Given the description of an element on the screen output the (x, y) to click on. 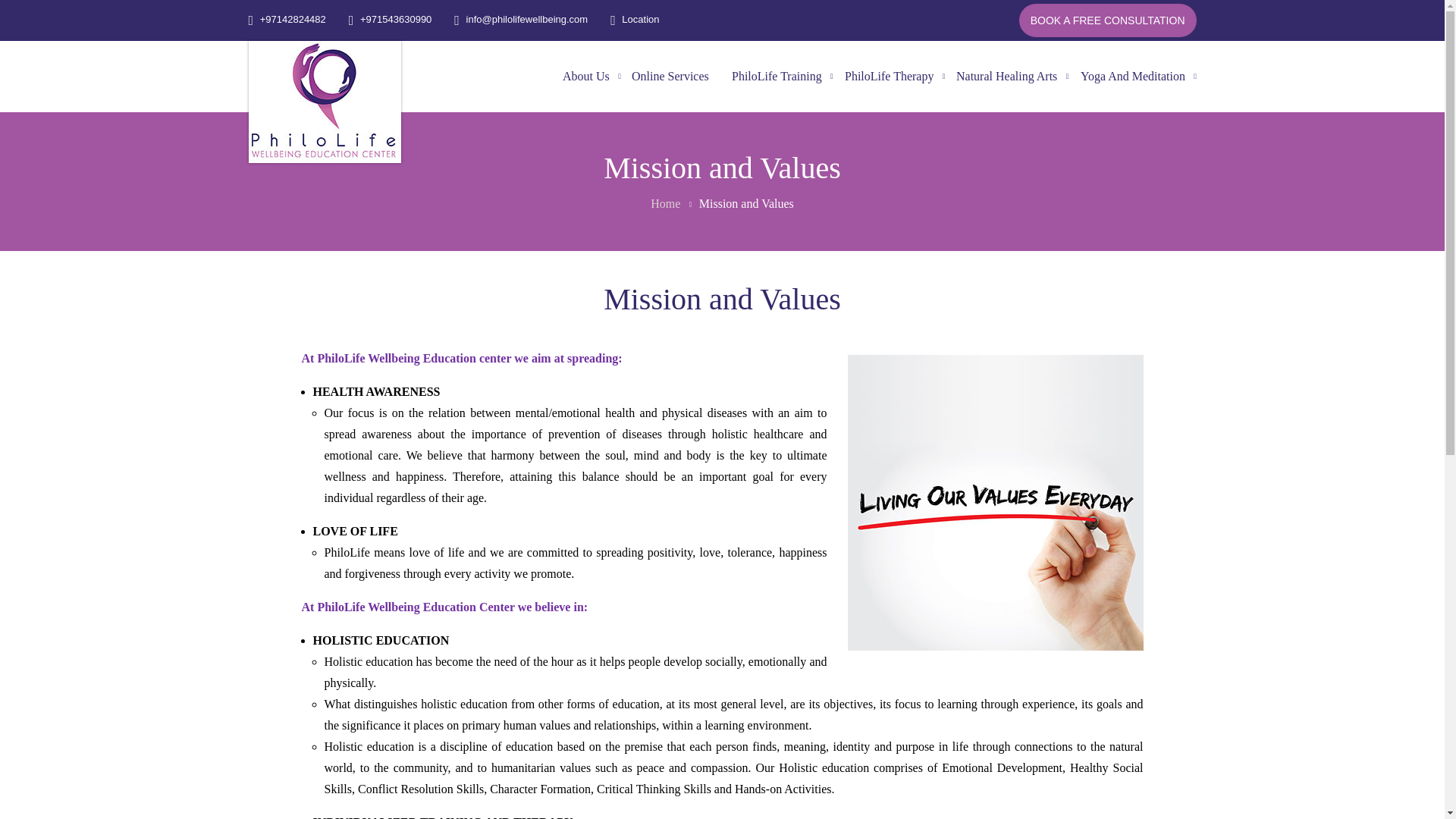
PhiloLife Therapy (888, 76)
BOOK A FREE CONSULTATION (1107, 20)
About Us (586, 76)
Online Services (670, 76)
Location (634, 20)
PhiloLife Training (776, 76)
